Given the description of an element on the screen output the (x, y) to click on. 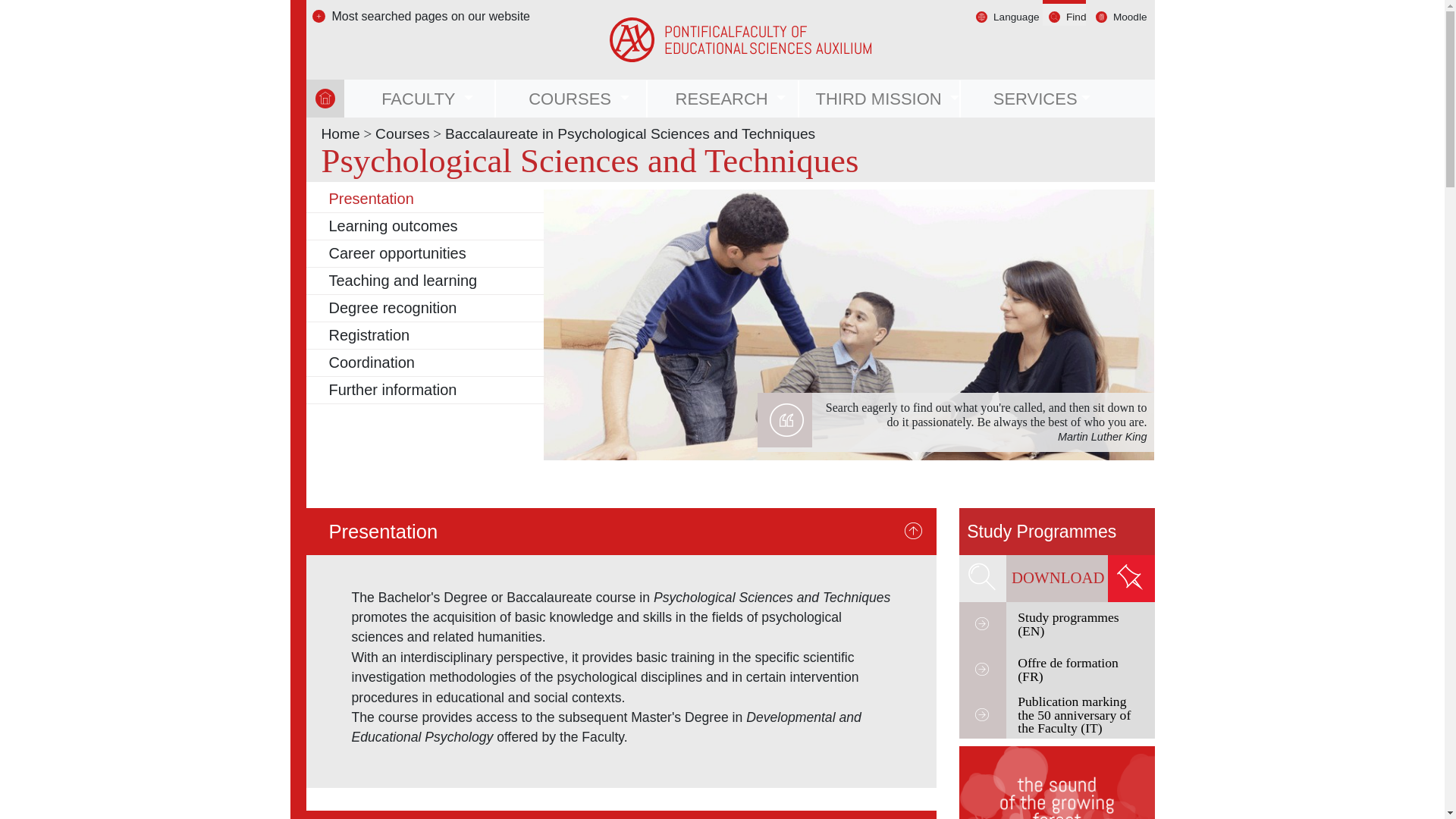
Degree recognition (393, 307)
Moodle (1130, 16)
Learning outcomes (393, 225)
RESEARCH (723, 98)
FACULTY (419, 98)
Career opportunities (397, 252)
Registration (369, 334)
Teaching and learning (403, 280)
Coordination (371, 362)
Psychological Sciences and Techniques (1056, 531)
COURSES (571, 98)
Presentation (371, 198)
SERVICES (1036, 98)
Courses (402, 133)
THIRD MISSION (879, 98)
